Given the description of an element on the screen output the (x, y) to click on. 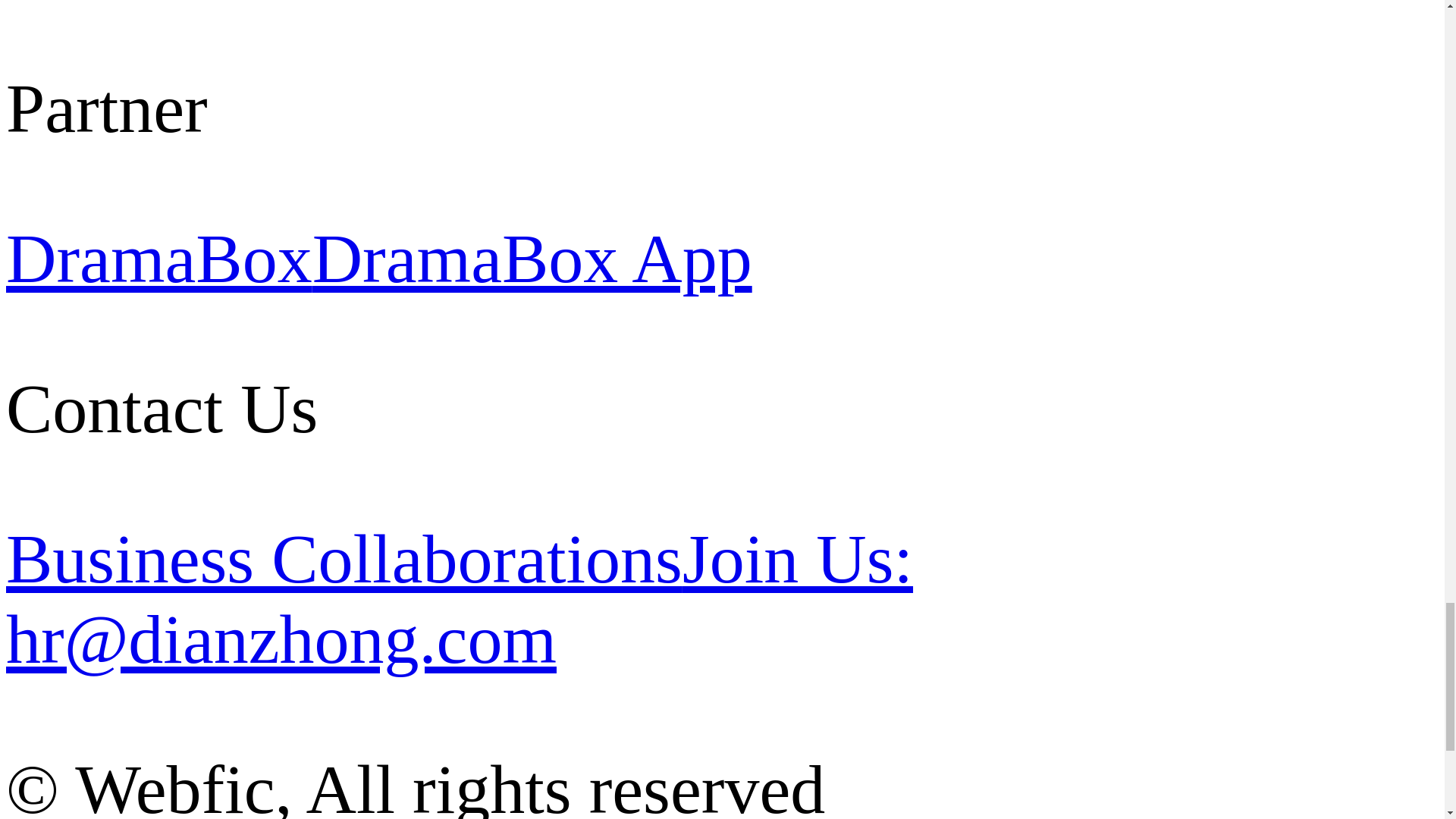
DramaBox App (532, 258)
Business Collaborations (343, 558)
DramaBox (159, 258)
